Given the description of an element on the screen output the (x, y) to click on. 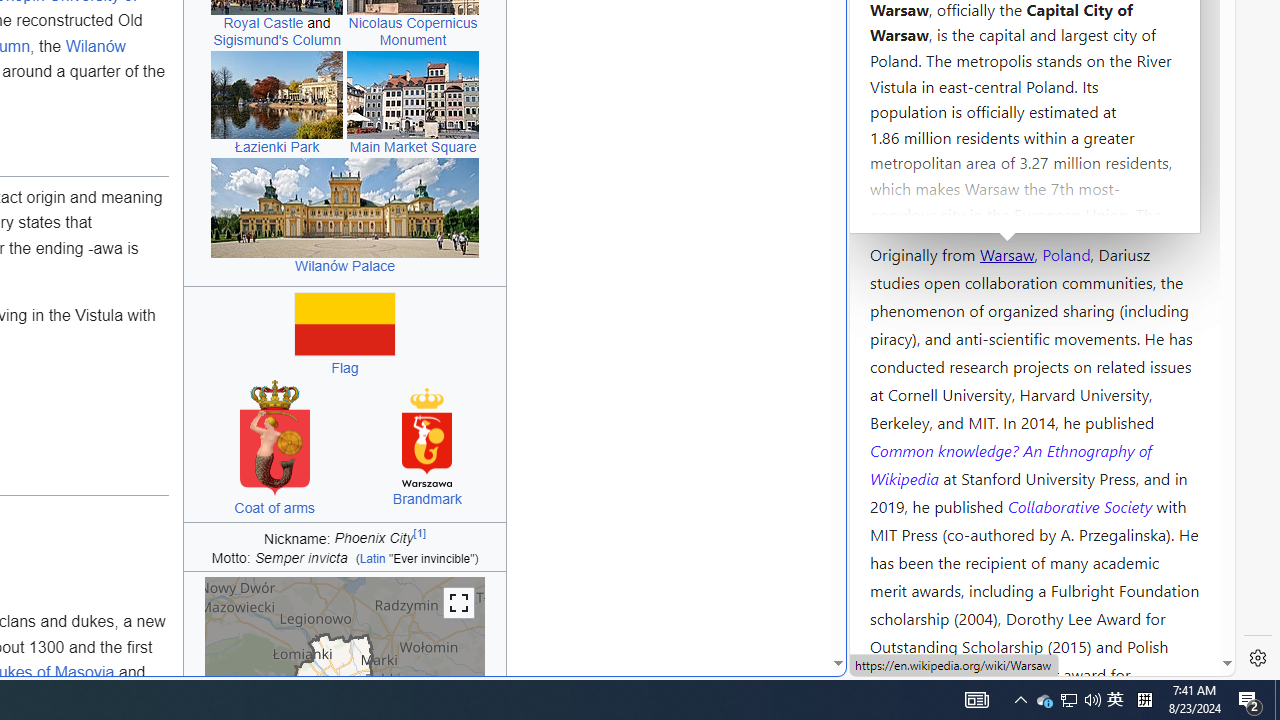
Flag of Warsaw (345, 324)
Class: oo-ui-buttonElement-button (459, 602)
Class: mergedtoprow (344, 536)
Harvard University (934, 205)
Main Market Square (413, 94)
Poland (1065, 253)
Main Market Square (413, 146)
